Given the description of an element on the screen output the (x, y) to click on. 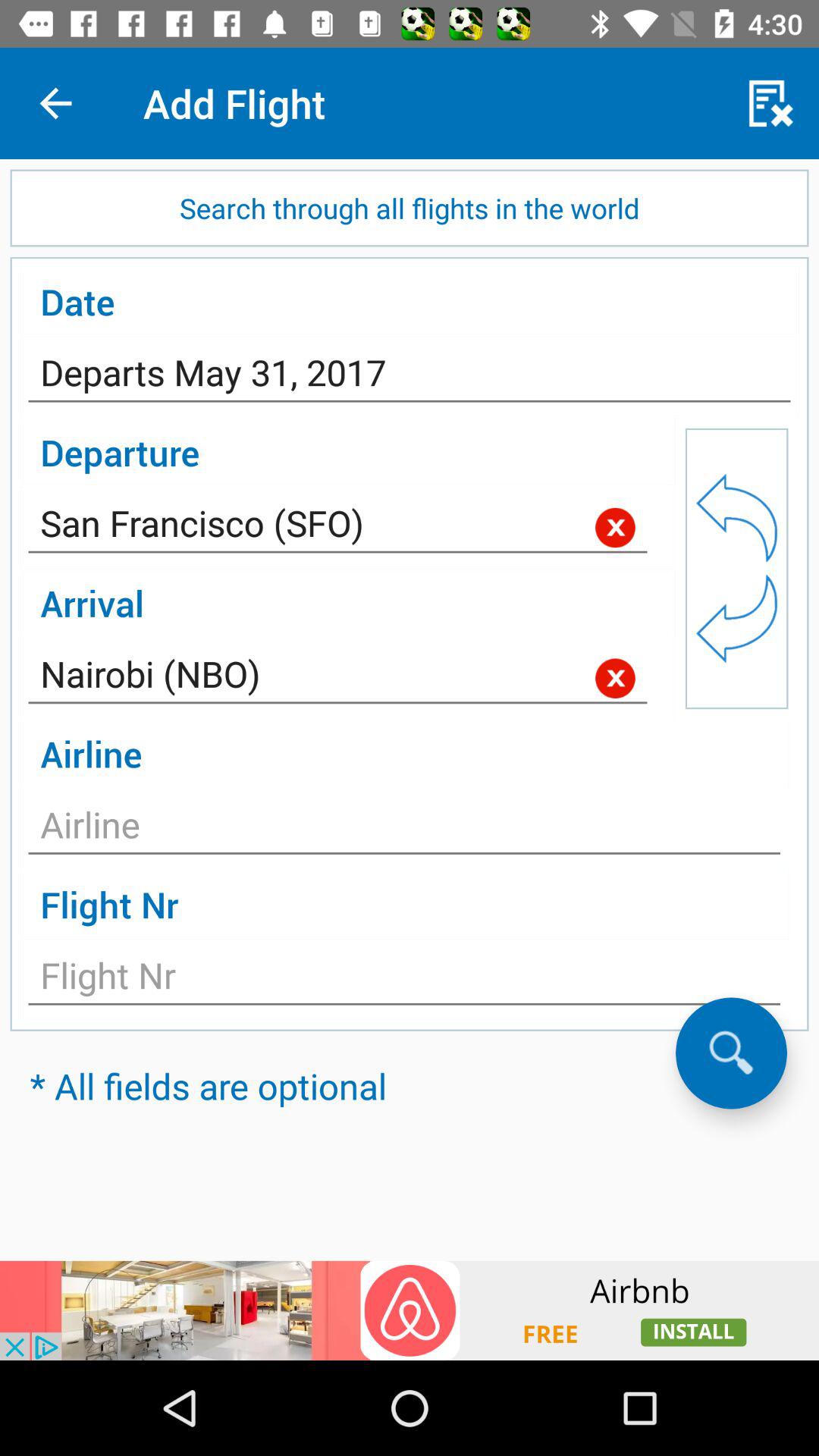
enter the airline details (404, 829)
